Given the description of an element on the screen output the (x, y) to click on. 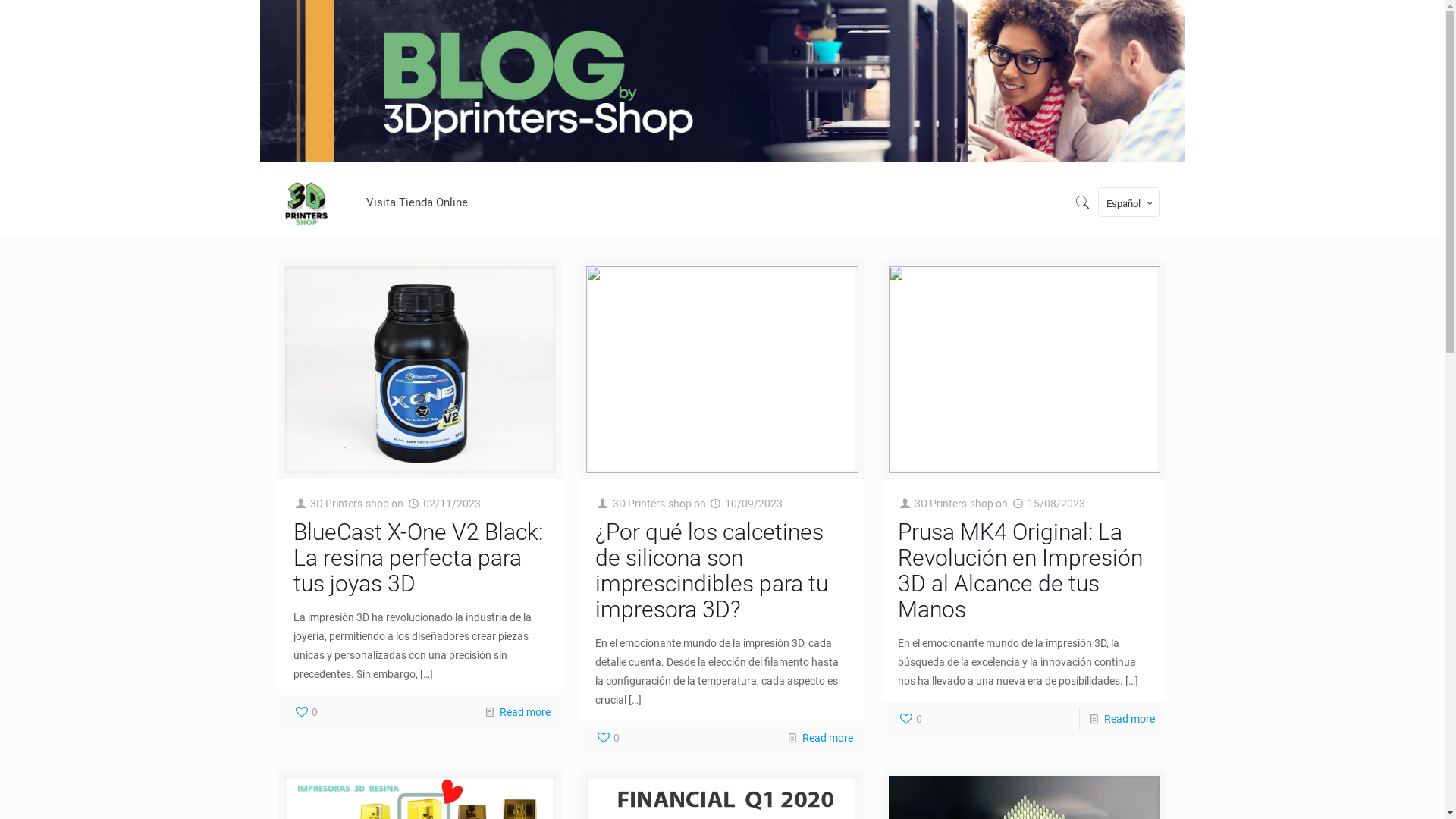
3D Printers-shop Element type: text (953, 503)
Read more Element type: text (524, 712)
0 Element type: text (909, 718)
0 Element type: text (305, 711)
Read more Element type: text (827, 737)
Visita Tienda Online Element type: text (417, 202)
Read more Element type: text (1129, 718)
3D Printers-shop Element type: text (651, 503)
0 Element type: text (607, 737)
3D Printers-shop Element type: text (349, 503)
